Given the description of an element on the screen output the (x, y) to click on. 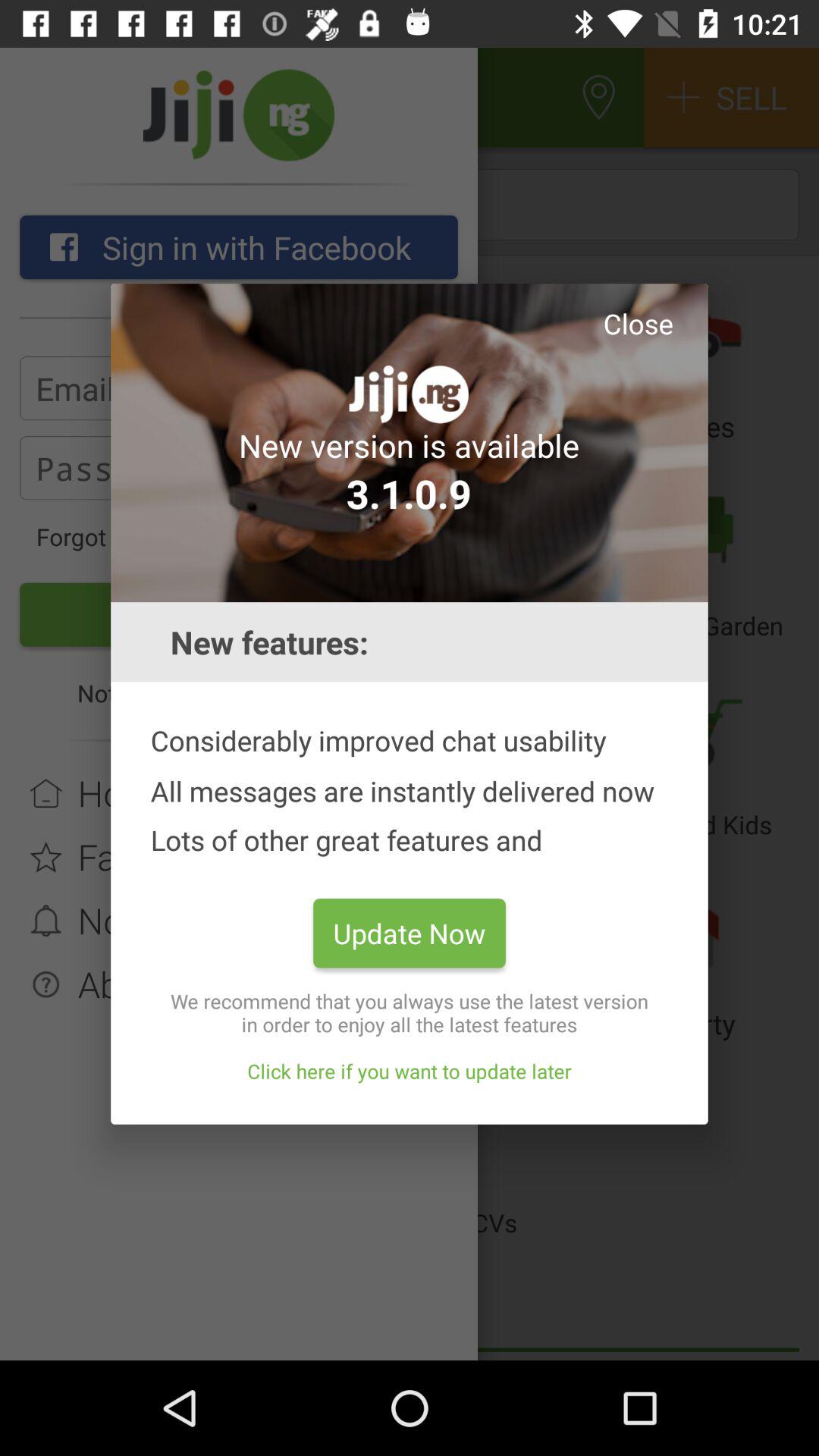
launch app above we recommend that item (409, 933)
